Given the description of an element on the screen output the (x, y) to click on. 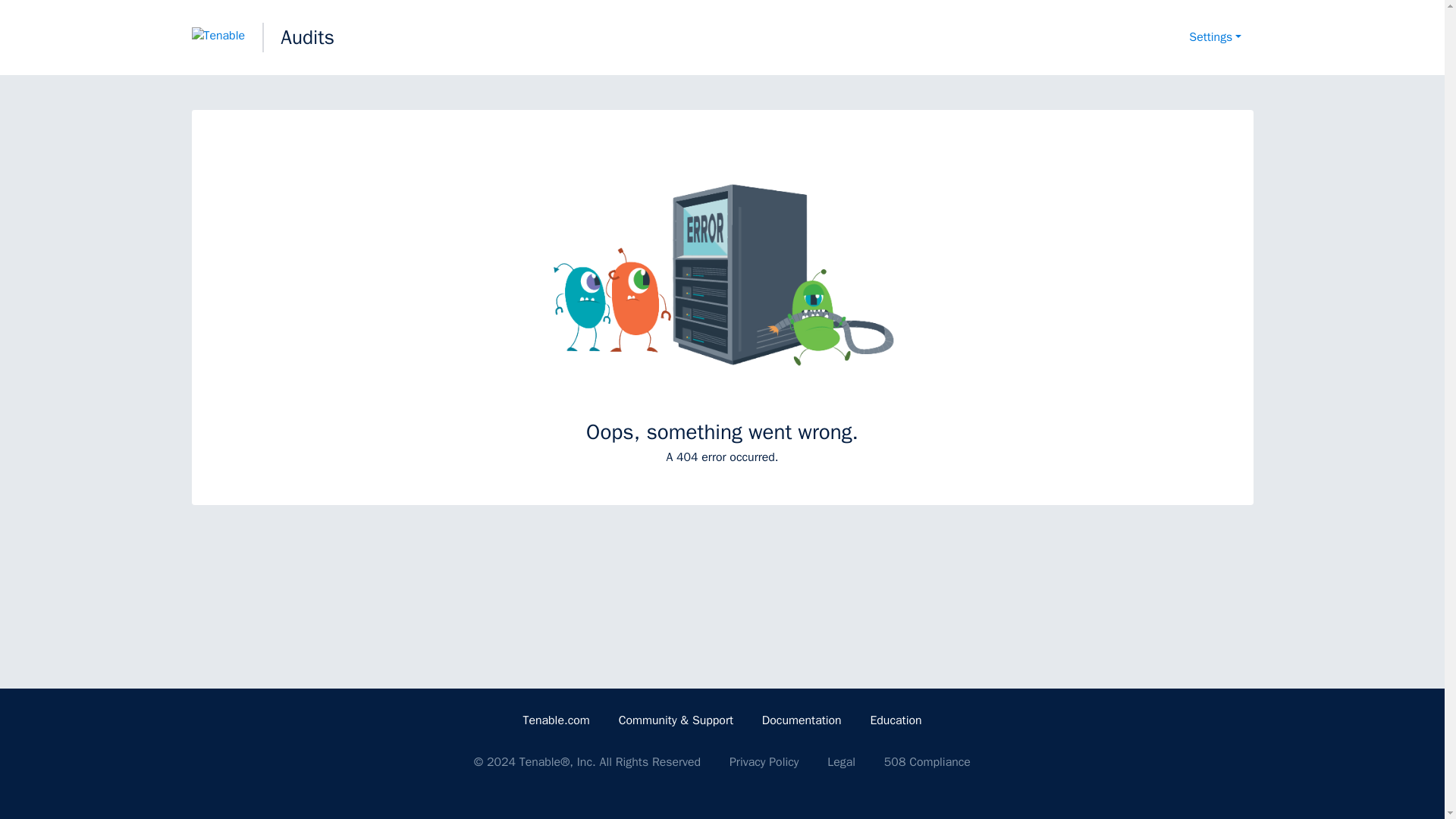
Settings (1214, 37)
Audits (307, 37)
